Given the description of an element on the screen output the (x, y) to click on. 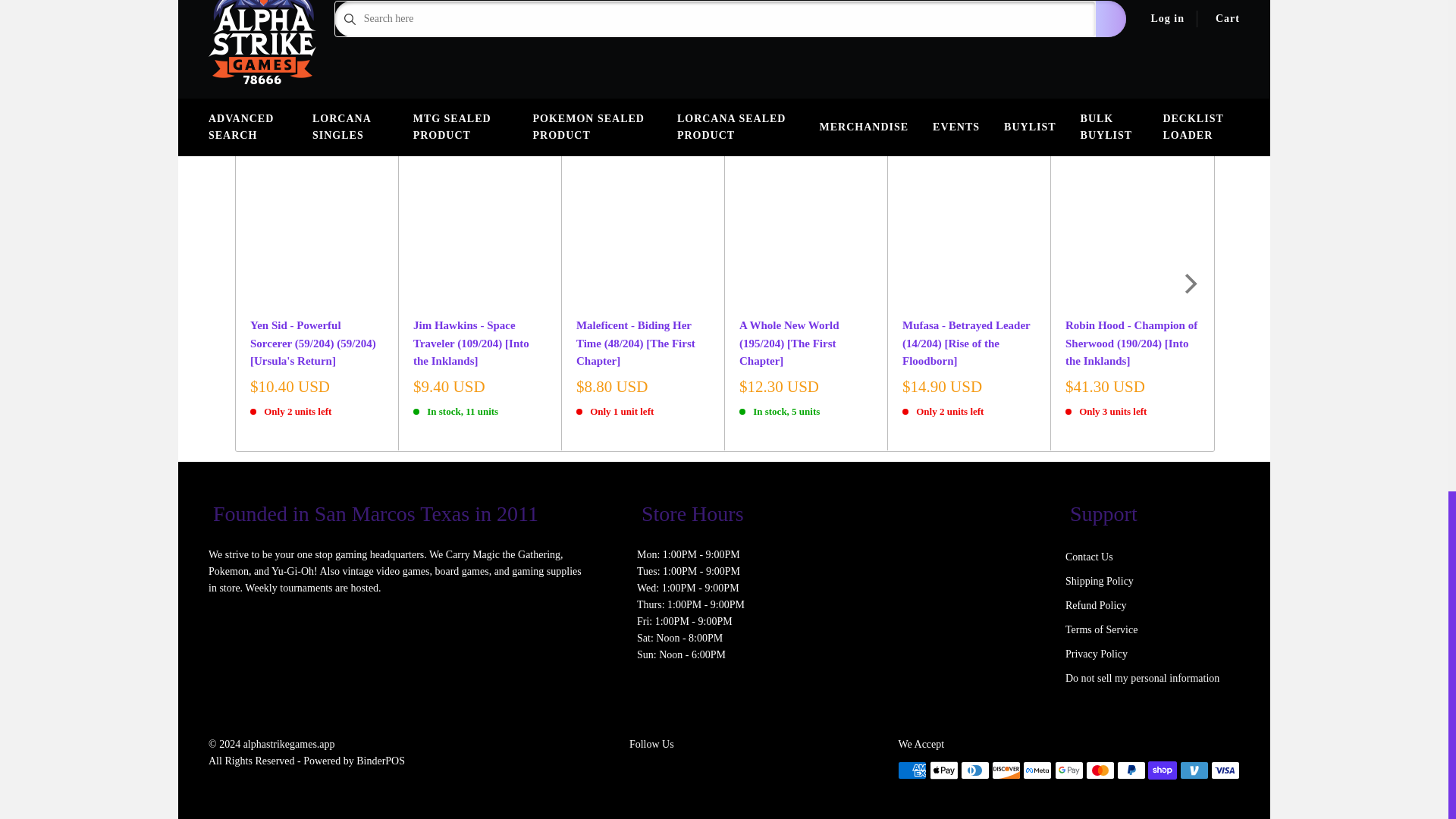
Mastercard (461, 0)
Google Pay (429, 0)
Shop Pay (524, 0)
PayPal (493, 0)
Meta Pay (398, 0)
American Express (272, 0)
Discover (367, 0)
Venmo (555, 0)
Apple Pay (303, 0)
Diners Club (335, 0)
